Given the description of an element on the screen output the (x, y) to click on. 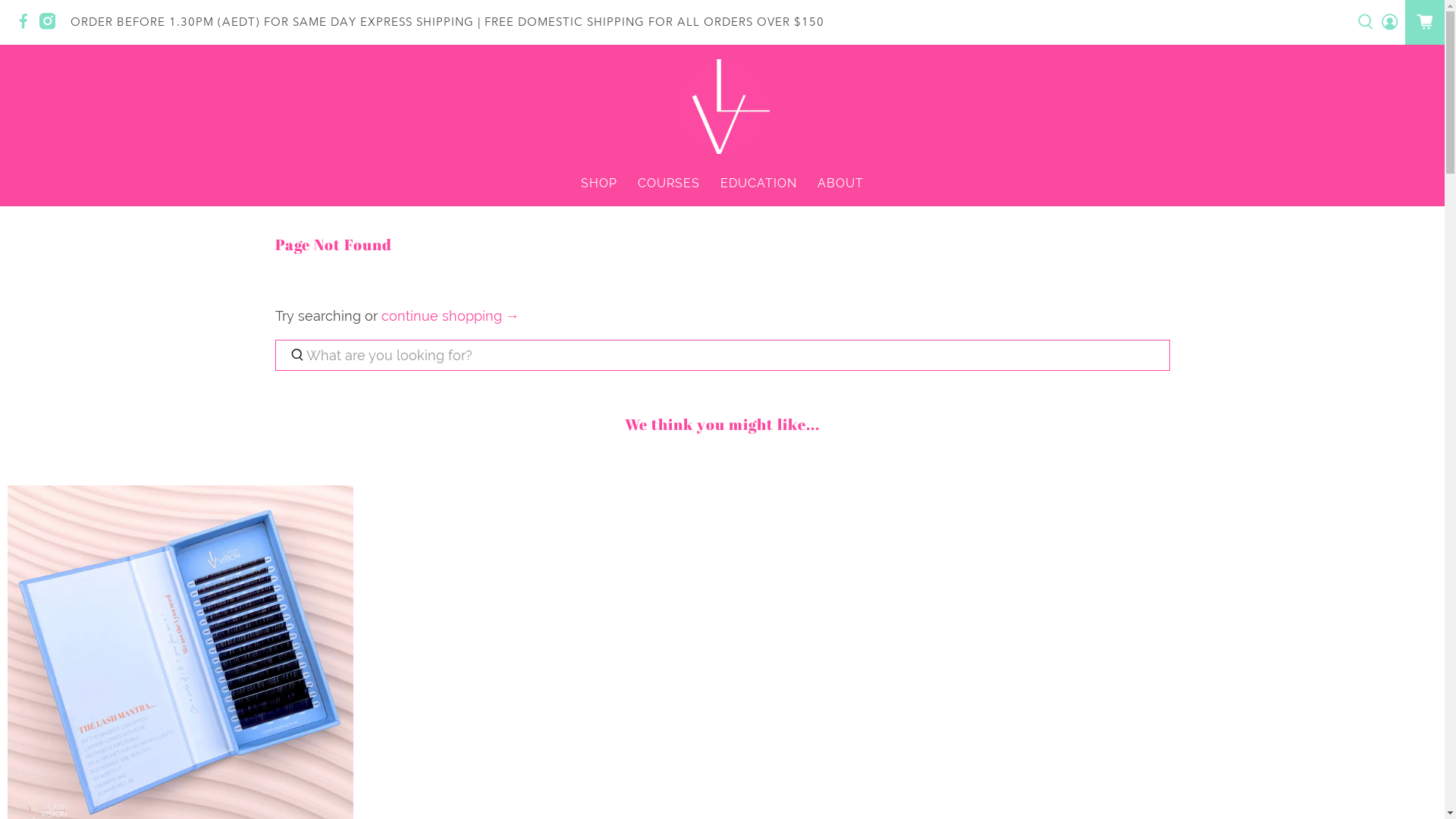
Lash Vision on Instagram Element type: hover (51, 25)
Lash Vision on Facebook Element type: hover (27, 25)
ABOUT Element type: text (839, 183)
Lash Vision Element type: hover (721, 106)
EDUCATION Element type: text (757, 183)
We think you might like... Element type: text (721, 424)
SHOP Element type: text (598, 183)
COURSES Element type: text (668, 183)
